Given the description of an element on the screen output the (x, y) to click on. 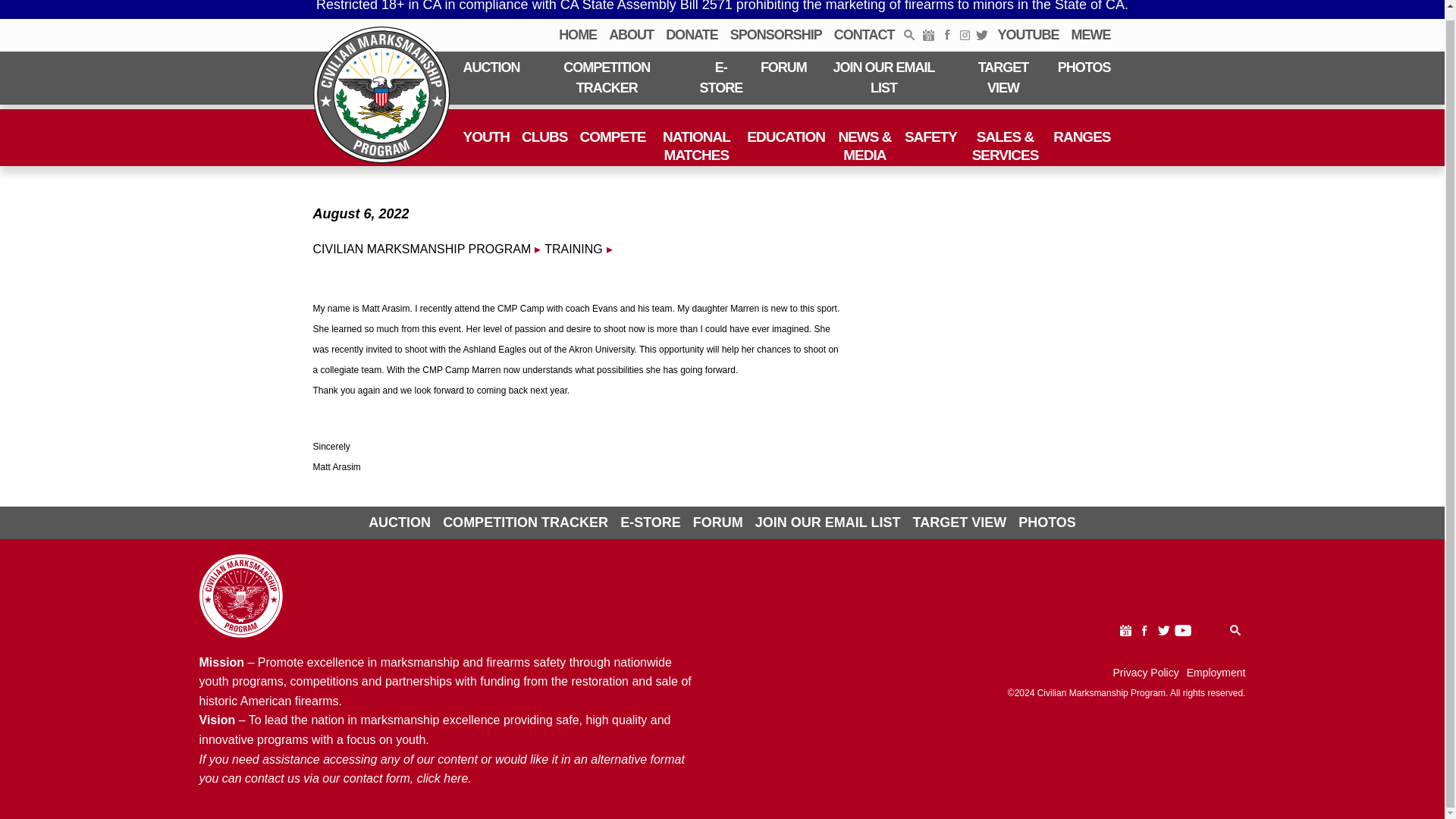
AUCTION (491, 67)
JOIN OUR EMAIL LIST (883, 77)
CONTACT (864, 34)
COMPETITION TRACKER (606, 77)
FORUM (783, 67)
Go to Civilian Marksmanship Program. (422, 248)
DONATE (691, 34)
HOME (577, 34)
TARGET VIEW (1003, 77)
E-STORE (720, 77)
PHOTOS (1083, 67)
ABOUT (630, 34)
Civilian Marksmanship Program (381, 94)
MEWE (1090, 34)
Go to the Training Feedback Type archives. (573, 248)
